Given the description of an element on the screen output the (x, y) to click on. 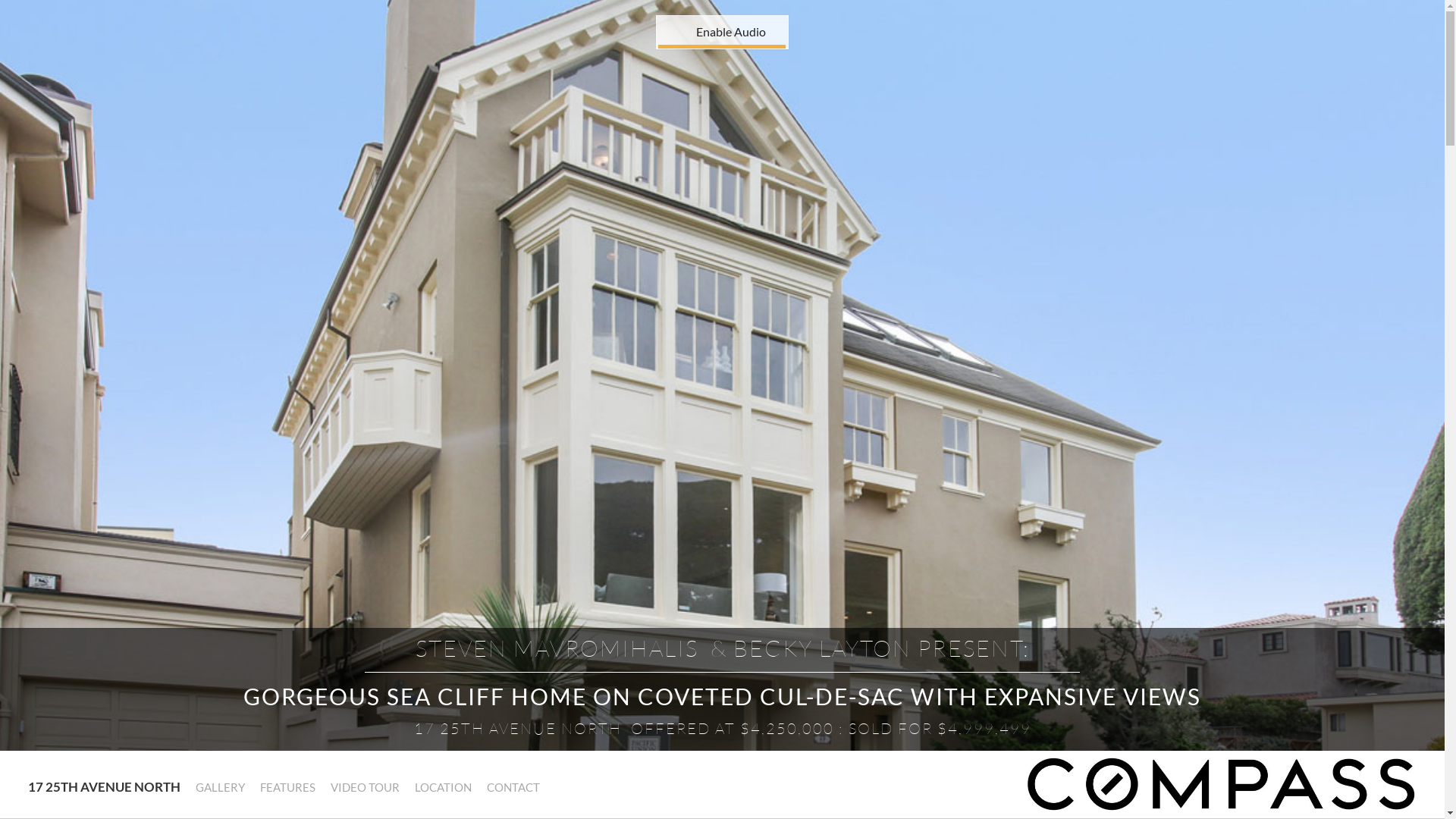
Enable Audio Element type: text (691, 25)
GALLERY Element type: text (219, 787)
LOCATION Element type: text (442, 787)
CONTACT Element type: text (512, 787)
FEATURES Element type: text (286, 787)
VIDEO TOUR Element type: text (364, 787)
17 25TH AVENUE NORTH Element type: text (103, 785)
